Given the description of an element on the screen output the (x, y) to click on. 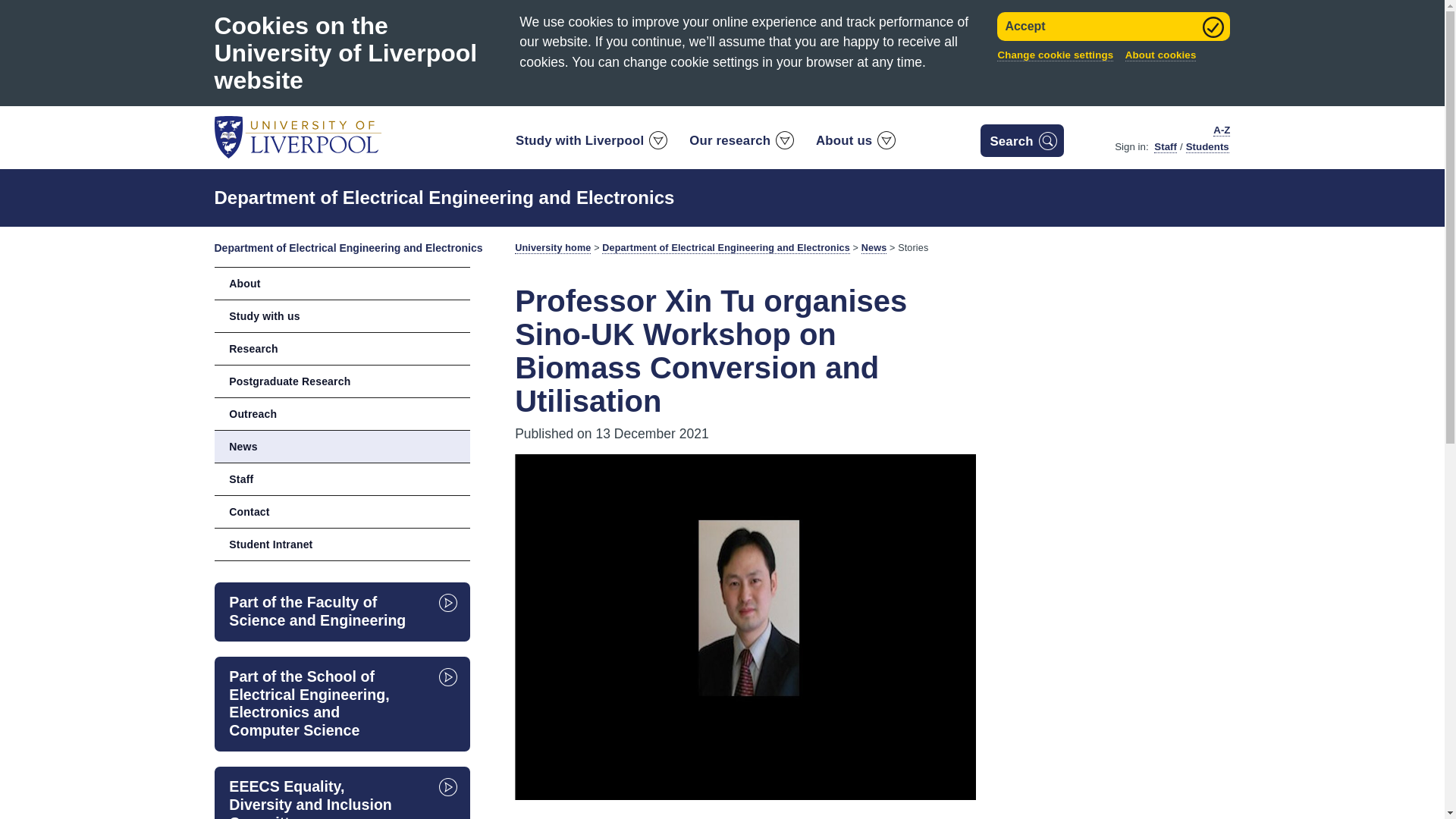
University of Liverpool Home (297, 136)
Accept (1113, 26)
Change cookie settings (1055, 55)
About us (855, 143)
Accept (1113, 26)
Study with Liverpool (590, 143)
Our research (740, 143)
About cookies (1160, 55)
